Given the description of an element on the screen output the (x, y) to click on. 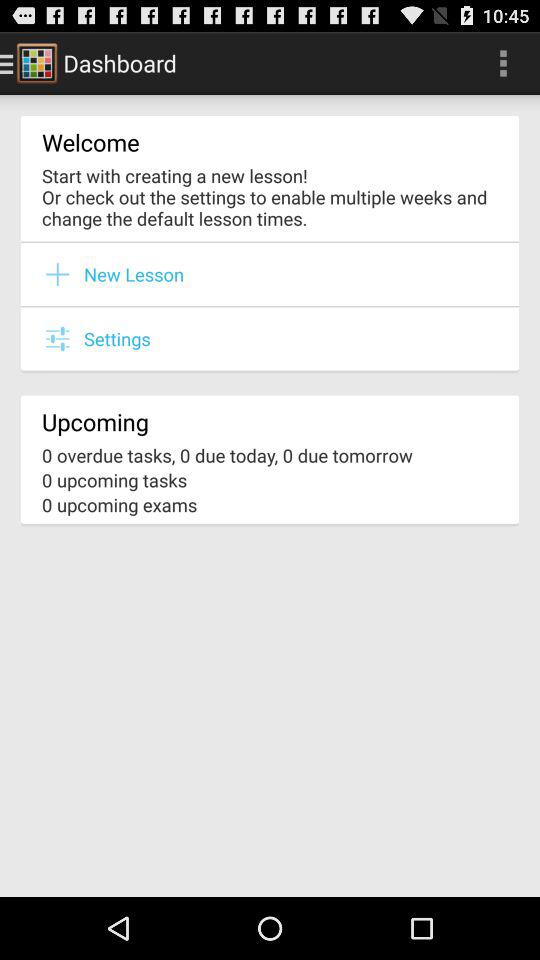
turn off icon above welcome (503, 62)
